Given the description of an element on the screen output the (x, y) to click on. 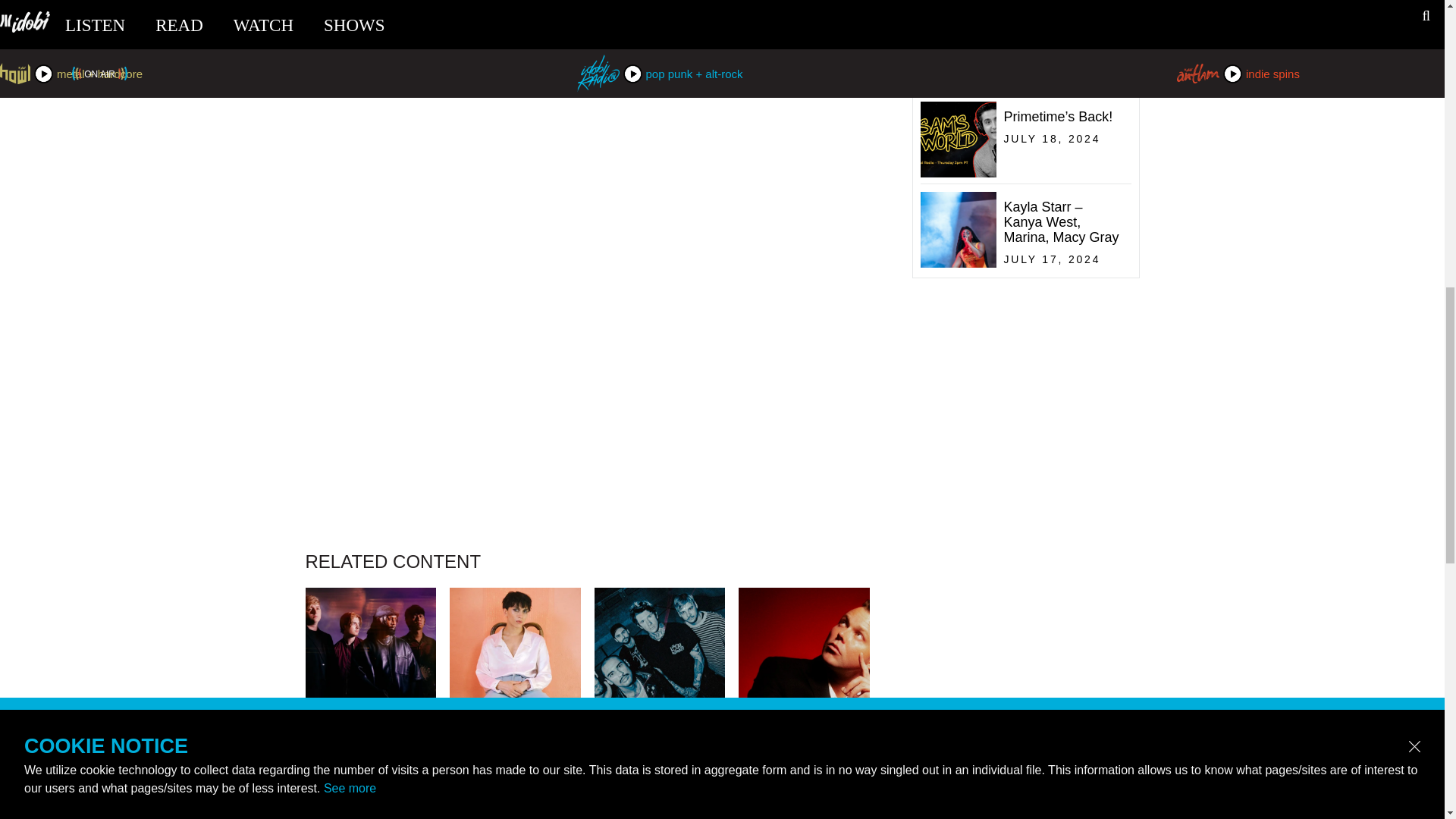
NEWS (1022, 82)
FEATURES (803, 759)
Rain City Drive Announces Massive Headline Fall Tour (514, 759)
NEWS (659, 790)
NEWS (369, 759)
